Given the description of an element on the screen output the (x, y) to click on. 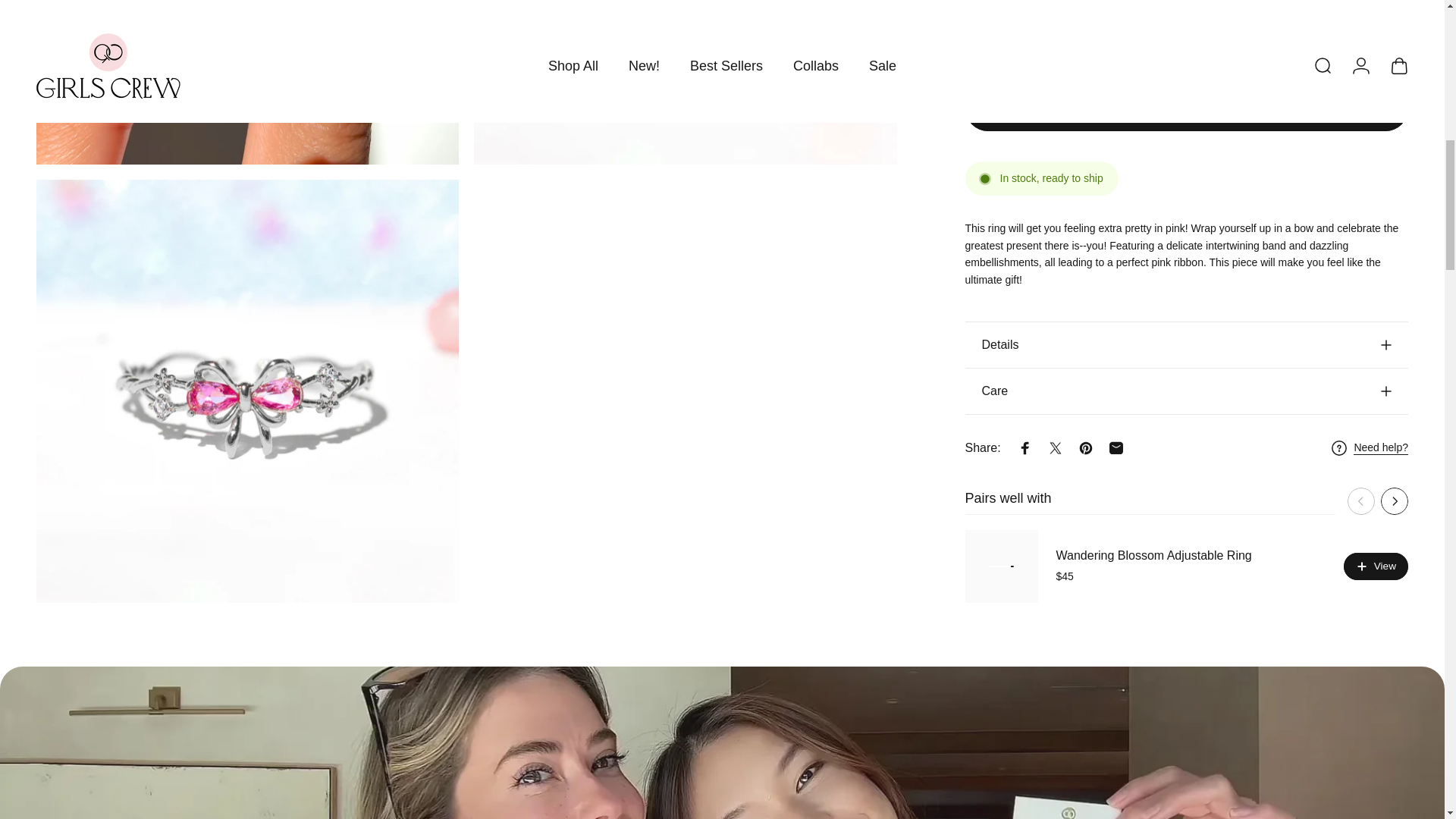
Pin on Pinterest (1085, 60)
Tweet on Twitter (1055, 60)
Share by Email (1115, 60)
Share on Facebook (1025, 60)
